Given the description of an element on the screen output the (x, y) to click on. 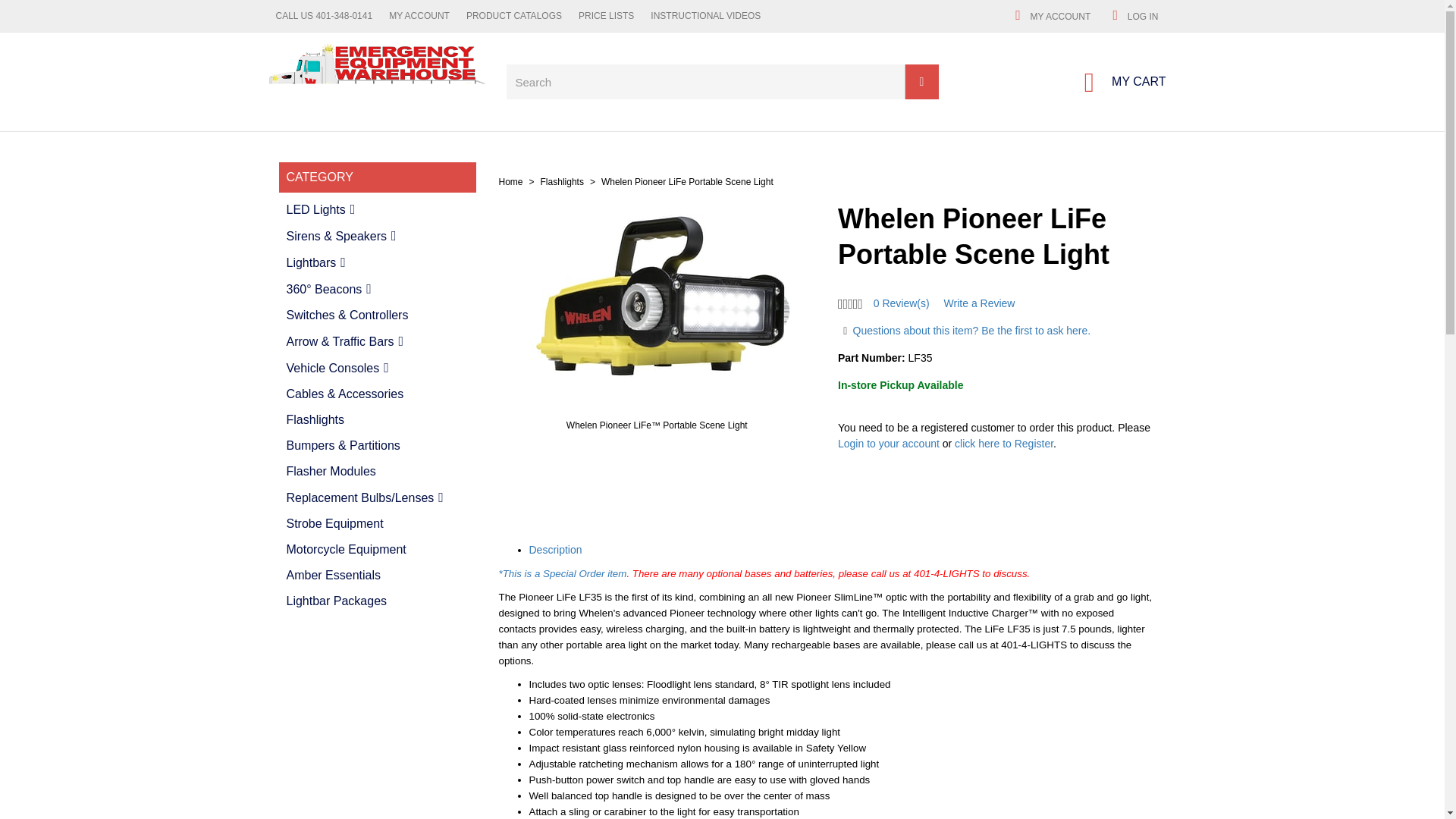
PRICE LISTS (1322, 15)
LED Lights (1118, 81)
PRODUCT CATALOGS (155, 15)
Lightbars (377, 209)
INSTRUCTIONAL VIDEOS (37, 15)
